Given the description of an element on the screen output the (x, y) to click on. 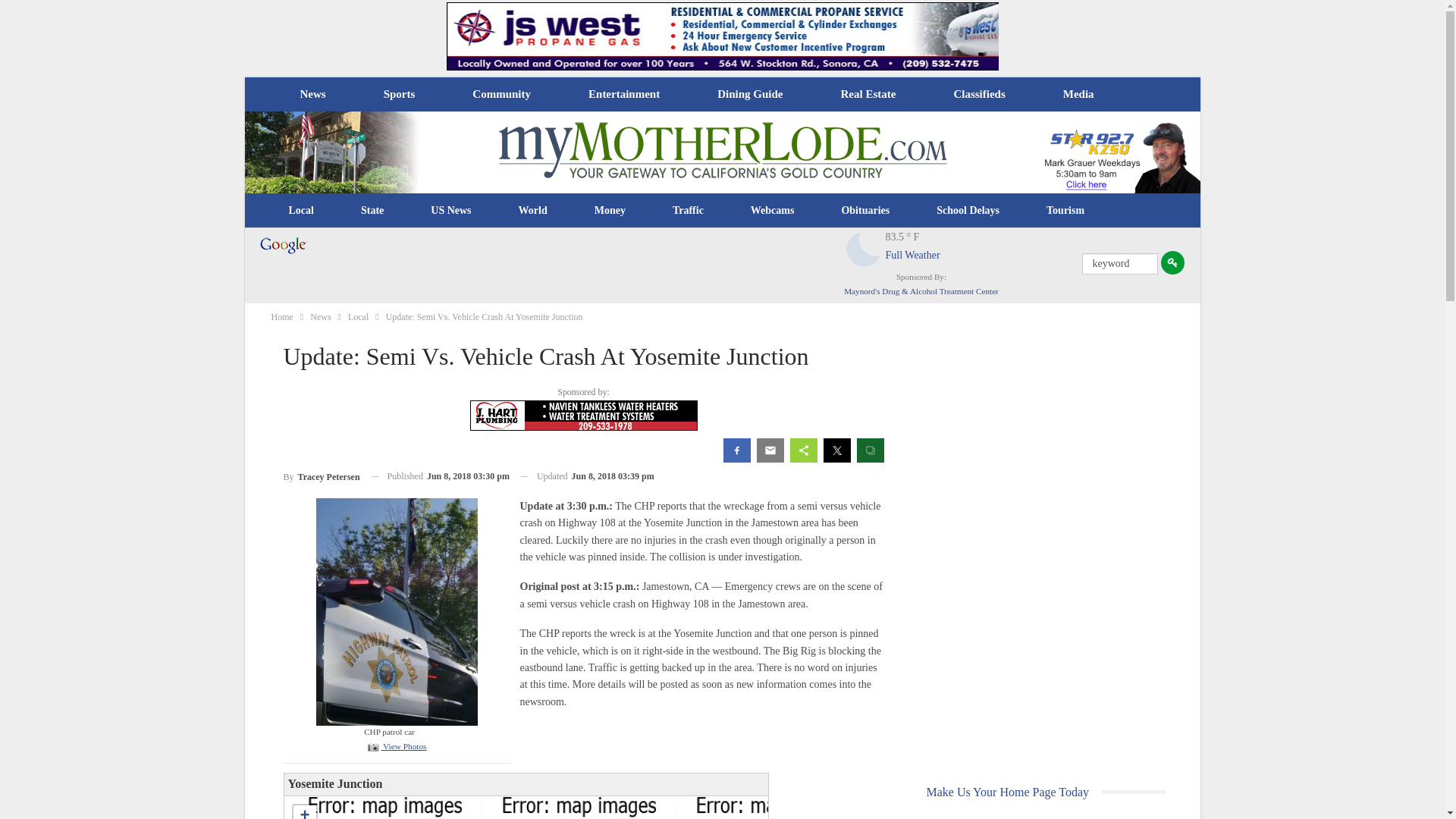
keyword (1119, 263)
Traffic (687, 210)
Webcams (772, 210)
School Delays (967, 210)
Entertainment (624, 93)
Update: Semi Vs. Vehicle Crash At Yosemite Junction (396, 746)
J Hart Plumbing (583, 415)
News (312, 93)
Local (300, 210)
Zoom in (303, 812)
Tourism (1065, 210)
Submit (1172, 262)
Obituaries (865, 210)
